Given the description of an element on the screen output the (x, y) to click on. 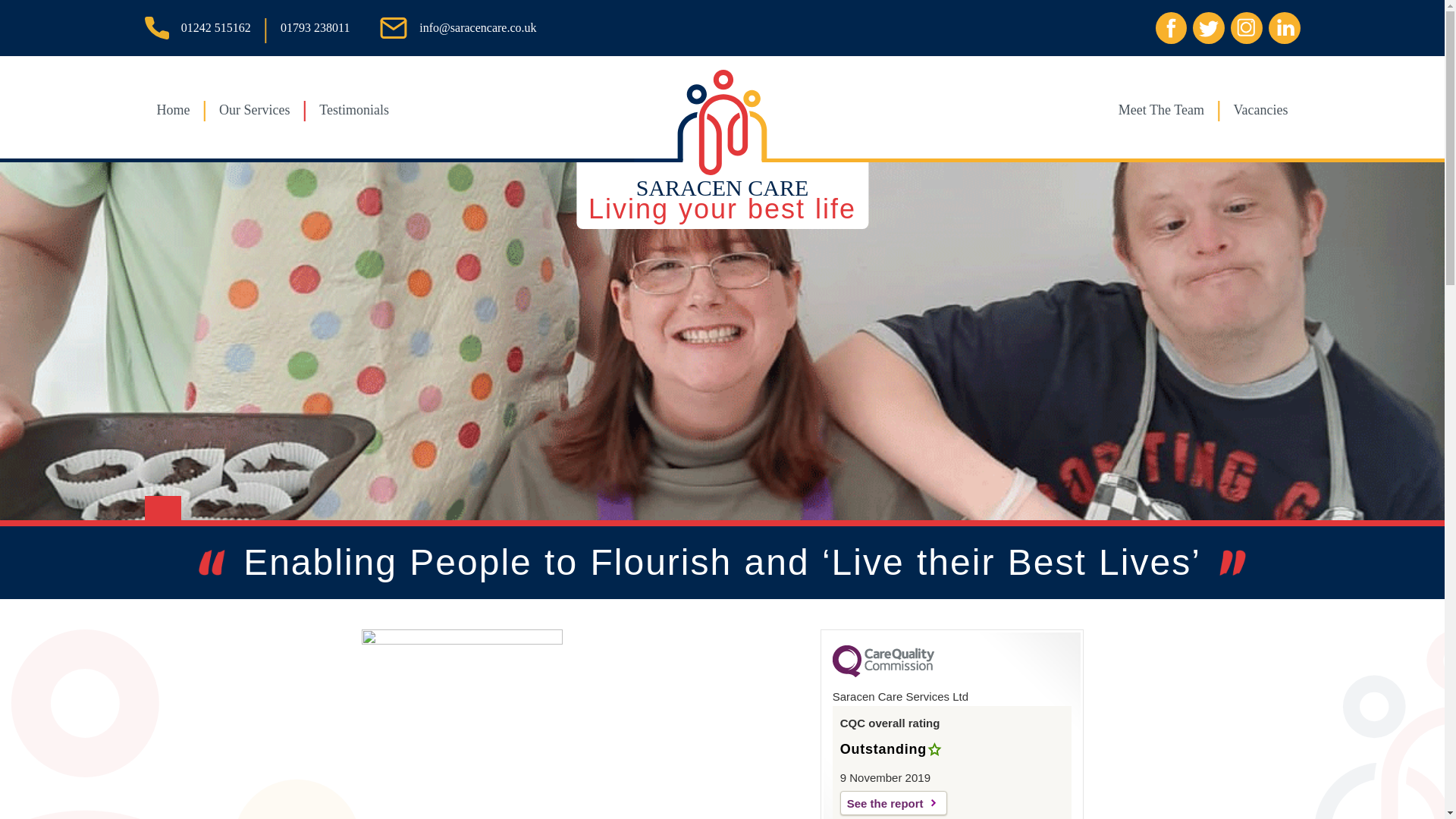
01793 238011 (315, 27)
Our Services (254, 109)
Home (172, 109)
Testimonials (353, 109)
See the report (721, 195)
Meet The Team (893, 802)
Vacancies (1161, 109)
01242 515162 (1260, 109)
CQC Logo (215, 27)
